Given the description of an element on the screen output the (x, y) to click on. 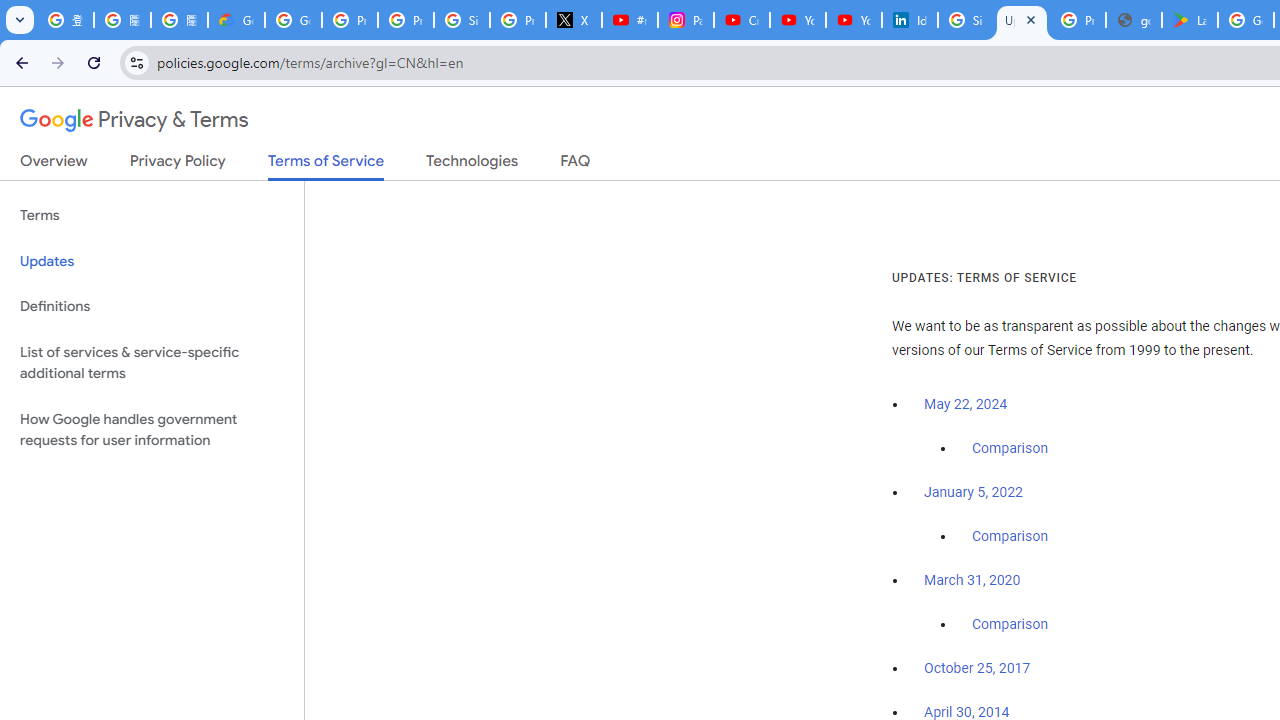
Privacy Help Center - Policies Help (405, 20)
October 25, 2017 (977, 669)
Comparison (1009, 625)
#nbabasketballhighlights - YouTube (629, 20)
